Given the description of an element on the screen output the (x, y) to click on. 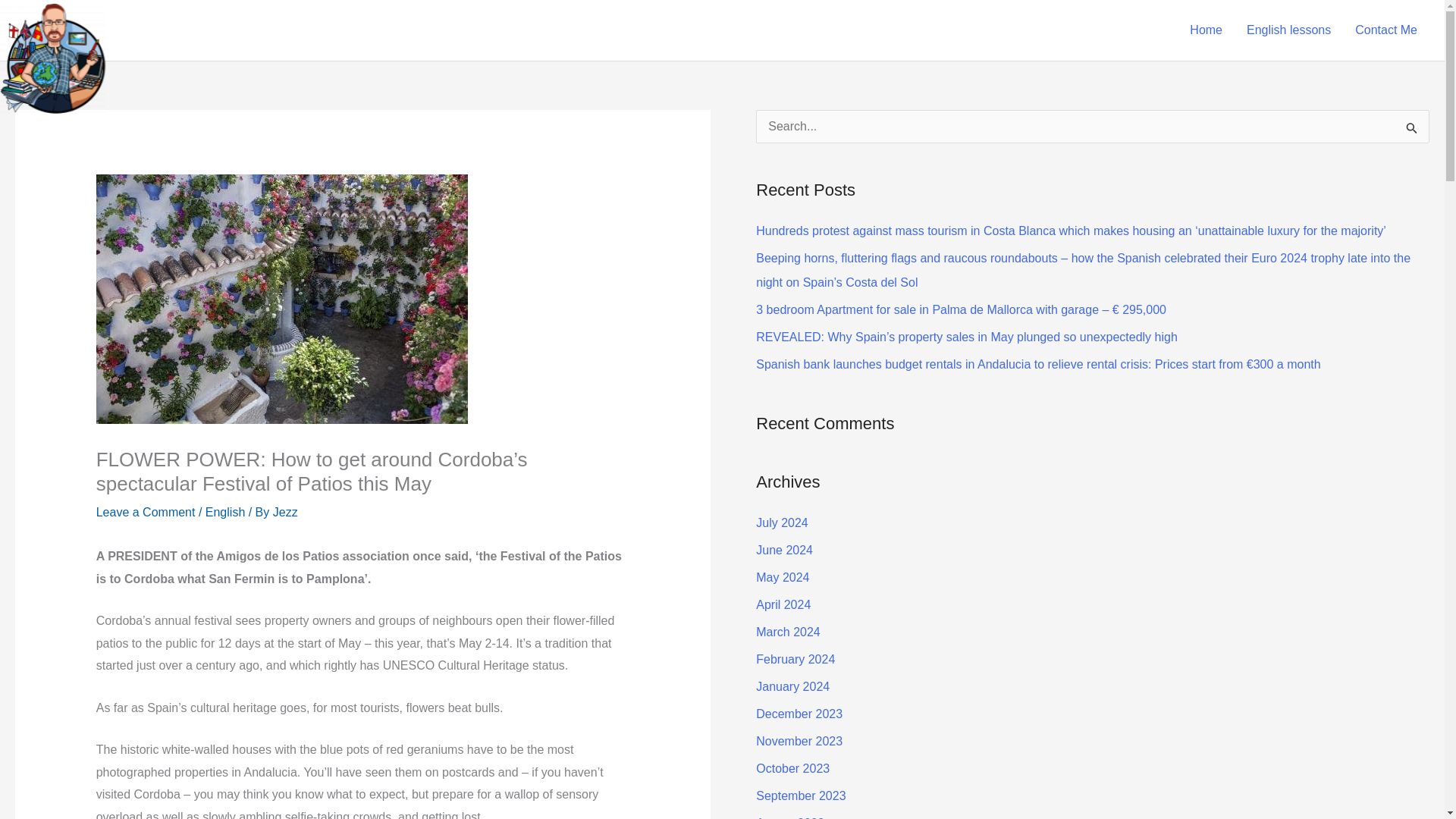
May 2024 (782, 576)
View all posts by Jezz (285, 512)
Contact Me (1385, 30)
August 2023 (789, 817)
Jezz (285, 512)
July 2024 (781, 522)
November 2023 (799, 740)
January 2024 (792, 686)
March 2024 (788, 631)
Home (1205, 30)
